Given the description of an element on the screen output the (x, y) to click on. 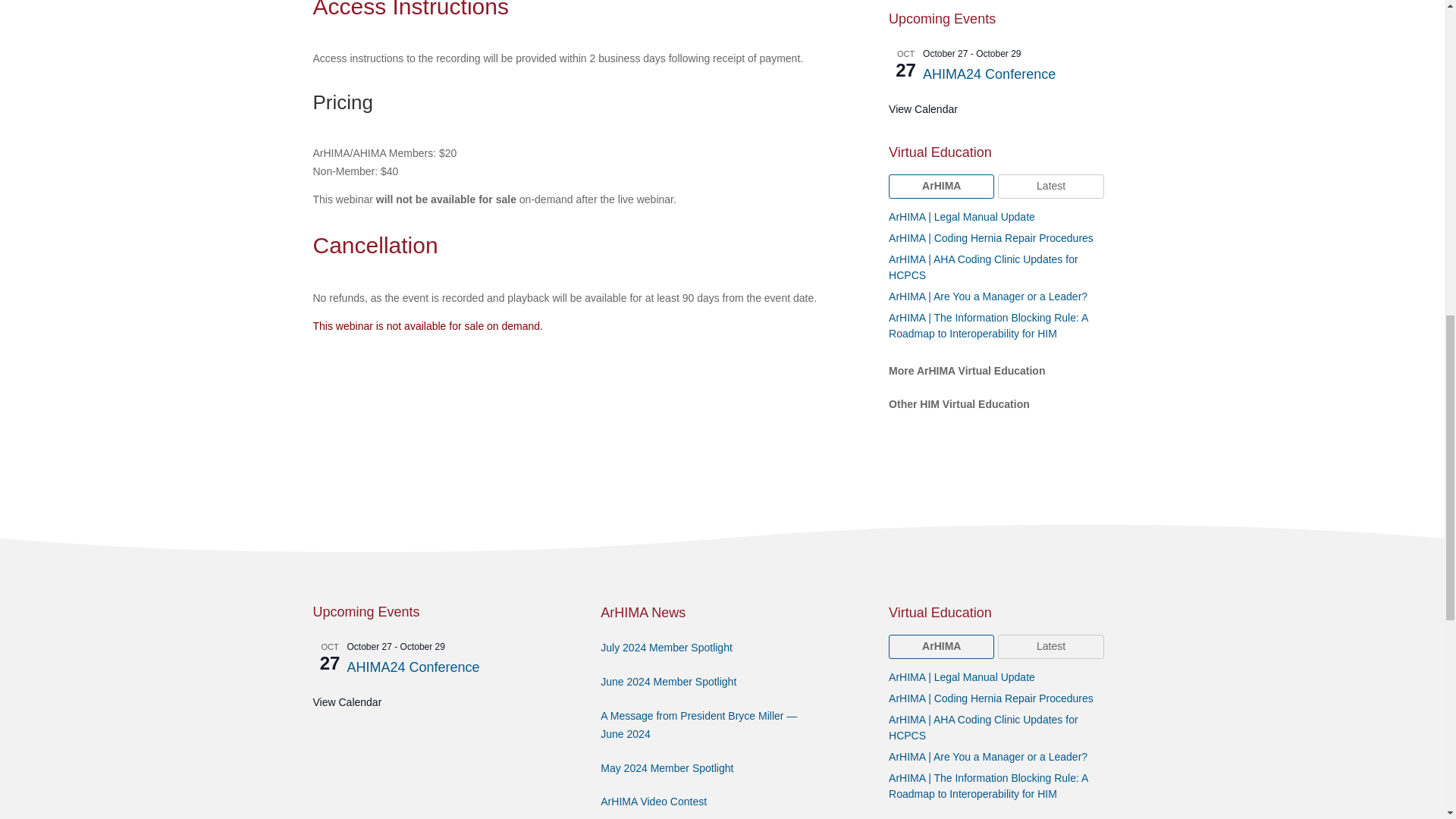
AHIMA24 Conference (989, 74)
View more events. (923, 109)
